Given the description of an element on the screen output the (x, y) to click on. 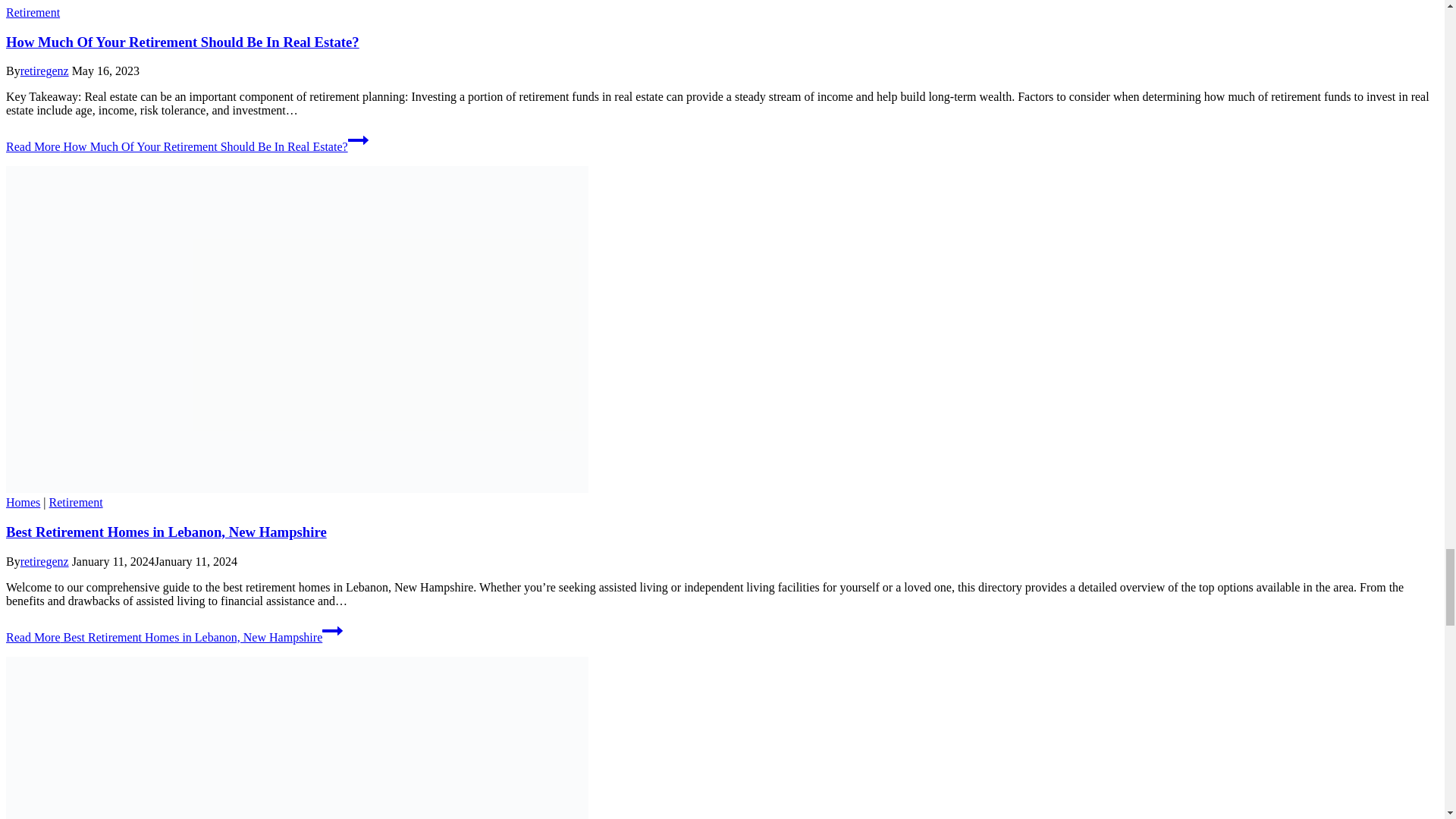
Continue (331, 630)
Retirement (32, 11)
Best Retirement Homes in Lebanon, New Hampshire (165, 531)
Continue (357, 139)
retiregenz (44, 561)
Homes (22, 502)
Retirement (76, 502)
retiregenz (44, 70)
How Much Of Your Retirement Should Be In Real Estate? (182, 41)
